Given the description of an element on the screen output the (x, y) to click on. 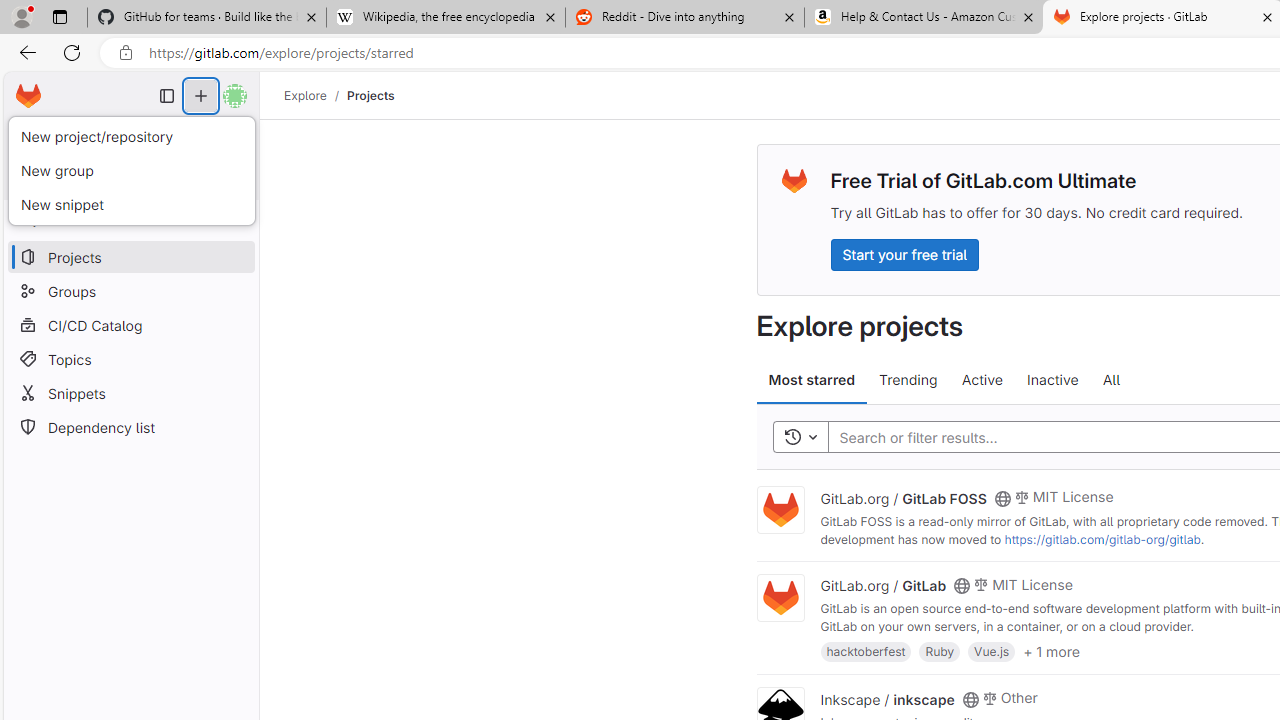
New project/repository (131, 137)
Explore (305, 95)
Start your free trial (904, 254)
To-Do list 0 (212, 136)
Projects (370, 95)
New group (131, 170)
Topics (130, 358)
New group (131, 170)
Topics (130, 358)
Vue.js (991, 650)
Primary navigation sidebar (167, 96)
